Given the description of an element on the screen output the (x, y) to click on. 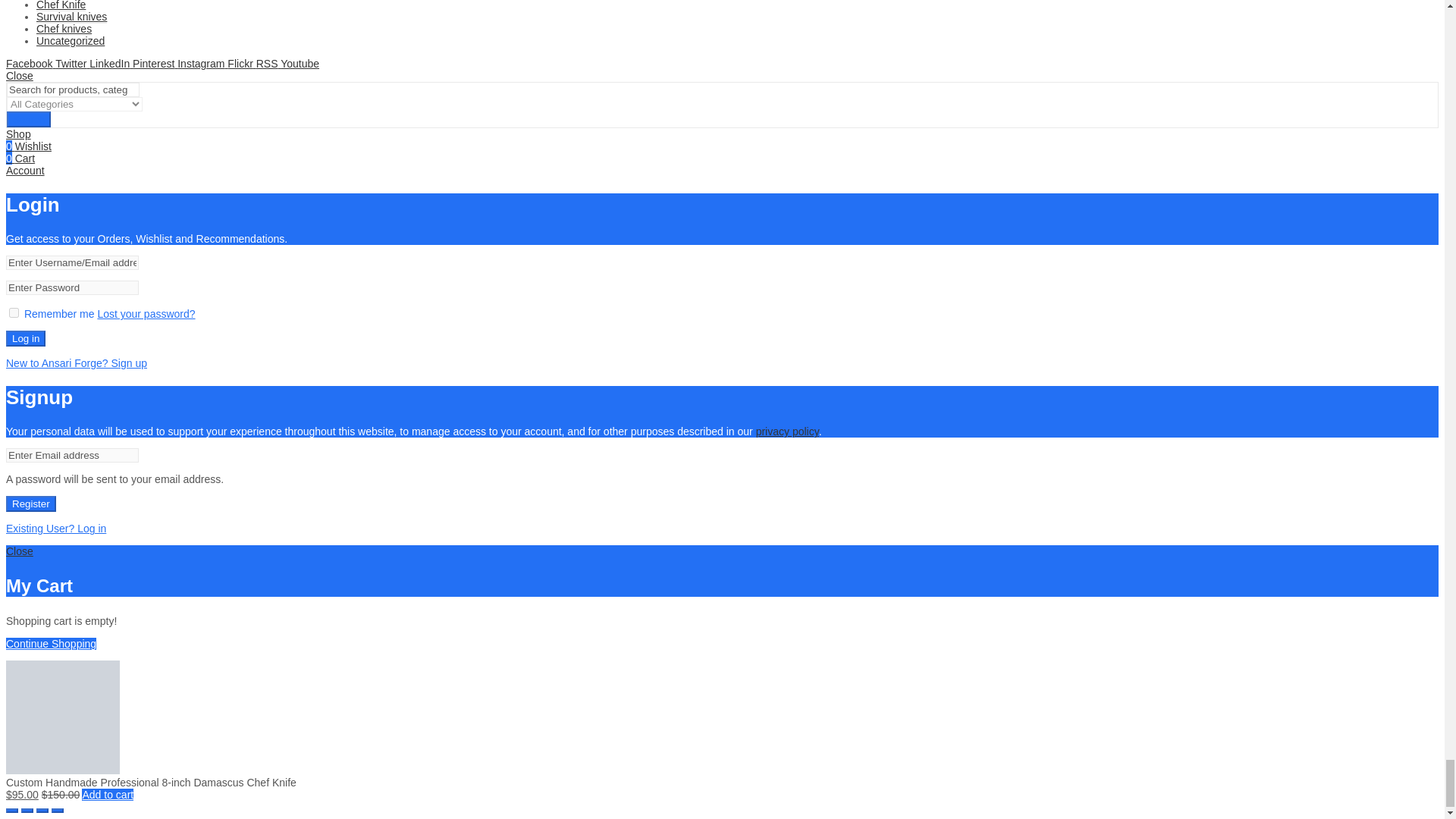
forever (13, 312)
